Given the description of an element on the screen output the (x, y) to click on. 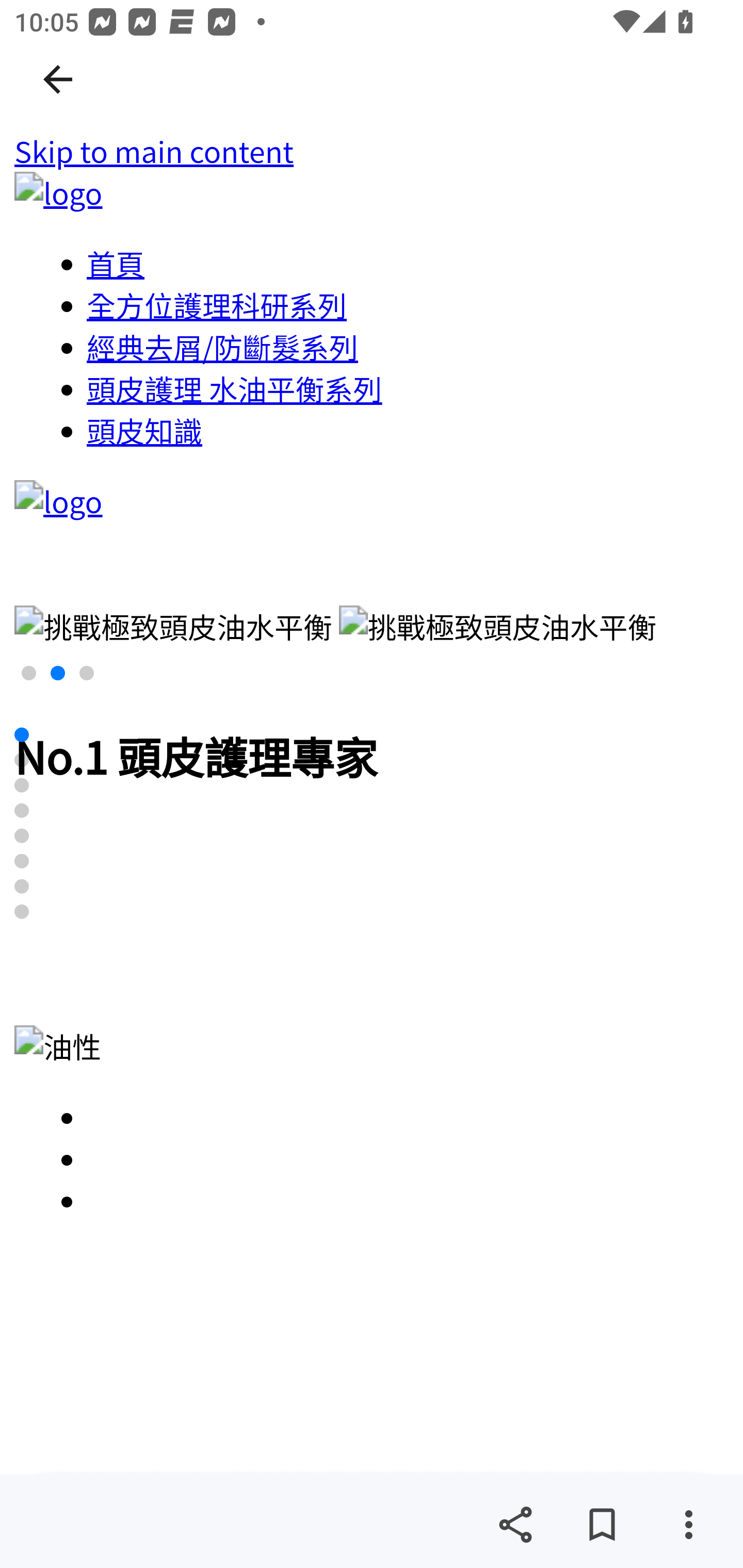
Navigate up (57, 79)
skip-main Skip to main content (154, 152)
header-logo logo (58, 192)
home-index 首頁 (115, 263)
professional-anti-dandruff-shampoo 全方位護理科研系列 (217, 304)
anti-dandruff-care-shampoo 經典去屑/防斷髮系列 (222, 346)
water-oil-balance-scalp-shampoo 頭皮護理 水油平衡系列 (234, 387)
hair-scalp-collage 頭皮知識 (144, 430)
header-logo logo (58, 501)
1 / 3 2 / 3 挑戰極致頭皮油水平衡 挑戰極致頭皮油水平衡 3 / 3 挑戰極致頭皮油水平衡 (372, 647)
Go to slide 1 (21, 734)
Go to slide 2 (21, 759)
Go to slide 3 (21, 785)
Go to slide 4 (21, 810)
Go to slide 5 (21, 835)
Go to slide 6 (21, 860)
Go to slide 7 (21, 886)
Go to slide 8 (21, 911)
anti-dandruff-care-shampoo (408, 1117)
water-oil-balance-scalp-shampoo (408, 1158)
professional-anti-dandruff-shampoo (408, 1200)
Share (514, 1524)
Save for later (601, 1524)
More options (688, 1524)
